Given the description of an element on the screen output the (x, y) to click on. 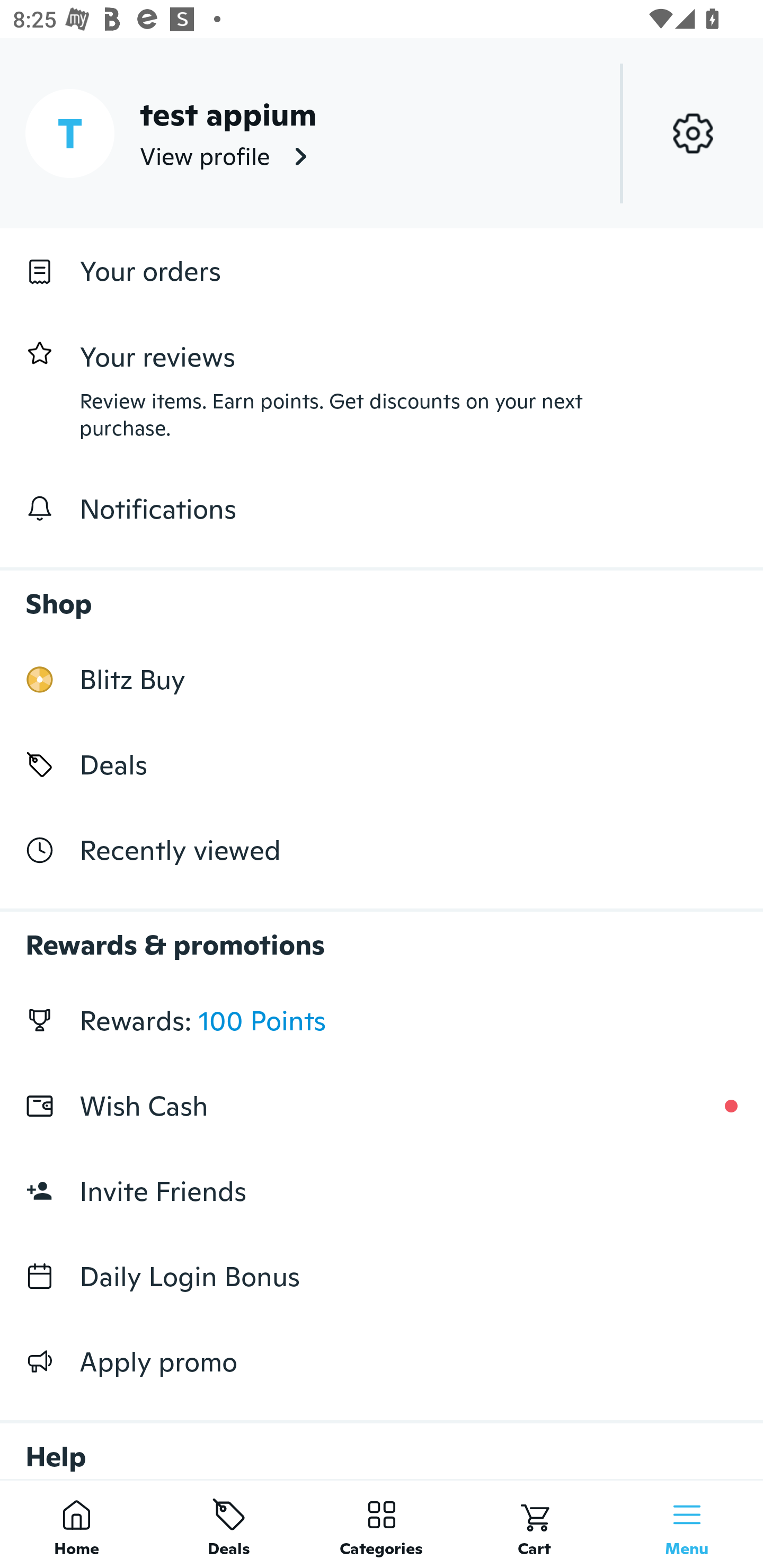
T test appium View profile (381, 132)
Your orders (381, 270)
Notifications (381, 508)
Shop (381, 593)
Blitz Buy (381, 679)
Deals (381, 764)
Recently viewed (381, 850)
Rewards & promotions (381, 935)
Rewards: 100 Points (381, 1020)
Wish Cash (381, 1106)
Invite Friends (381, 1190)
Daily Login Bonus (381, 1277)
Apply promo (381, 1361)
Help (381, 1441)
Home (76, 1523)
Deals (228, 1523)
Categories (381, 1523)
Cart (533, 1523)
Menu (686, 1523)
